Given the description of an element on the screen output the (x, y) to click on. 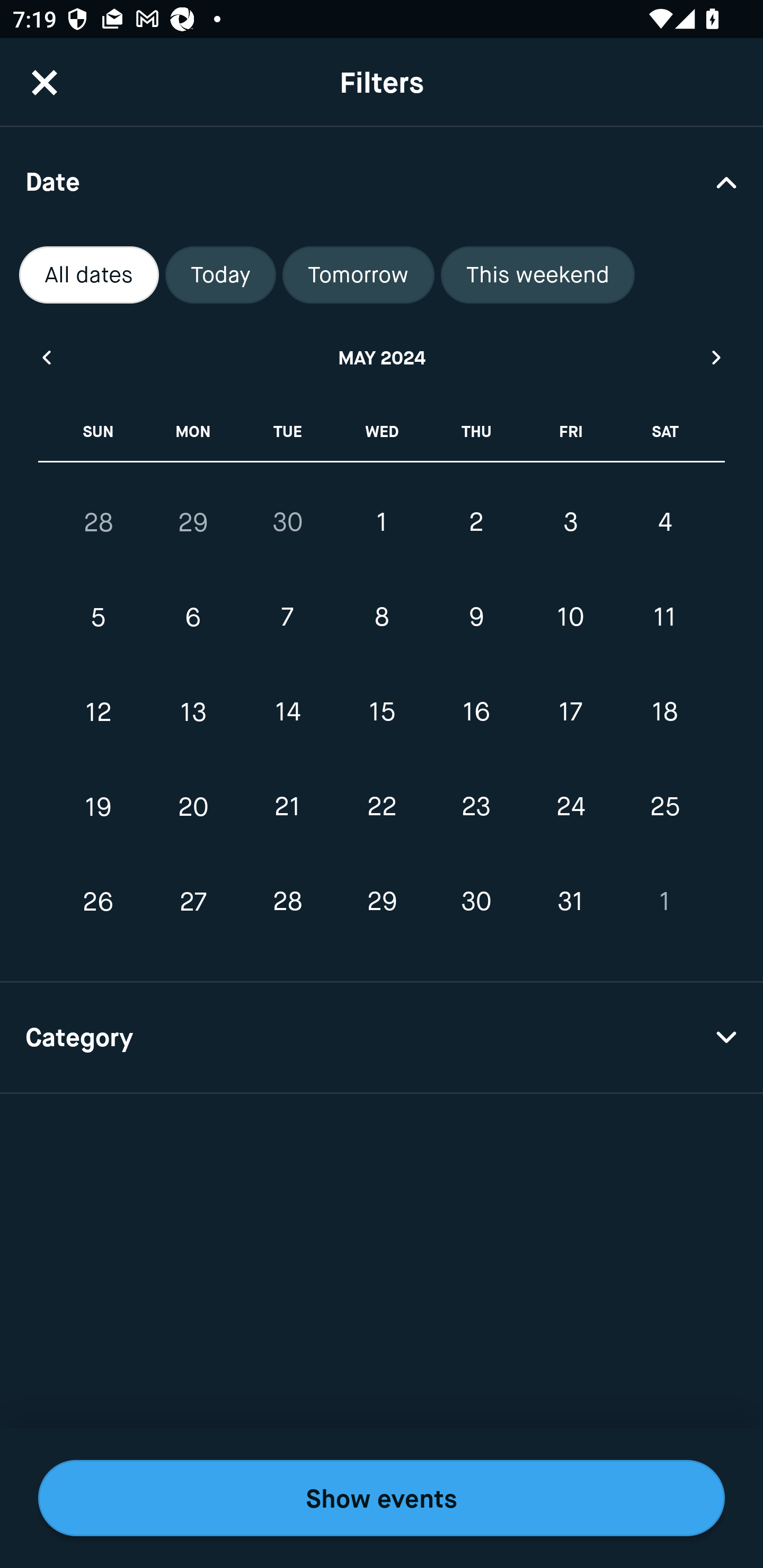
CloseButton (44, 82)
Date Drop Down Arrow (381, 181)
All dates (88, 274)
Today (220, 274)
Tomorrow (358, 274)
This weekend (537, 274)
Previous (45, 357)
Next (717, 357)
28 (98, 522)
29 (192, 522)
30 (287, 522)
1 (381, 522)
2 (475, 522)
3 (570, 522)
4 (664, 522)
5 (98, 617)
6 (192, 617)
7 (287, 617)
8 (381, 617)
9 (475, 617)
10 (570, 617)
11 (664, 617)
12 (98, 711)
13 (192, 711)
14 (287, 711)
15 (381, 711)
16 (475, 711)
17 (570, 711)
18 (664, 711)
19 (98, 806)
20 (192, 806)
21 (287, 806)
22 (381, 806)
23 (475, 806)
24 (570, 806)
25 (664, 806)
26 (98, 901)
27 (192, 901)
28 (287, 901)
29 (381, 901)
30 (475, 901)
31 (570, 901)
1 (664, 901)
Category Drop Down Arrow (381, 1038)
Show events (381, 1497)
